Given the description of an element on the screen output the (x, y) to click on. 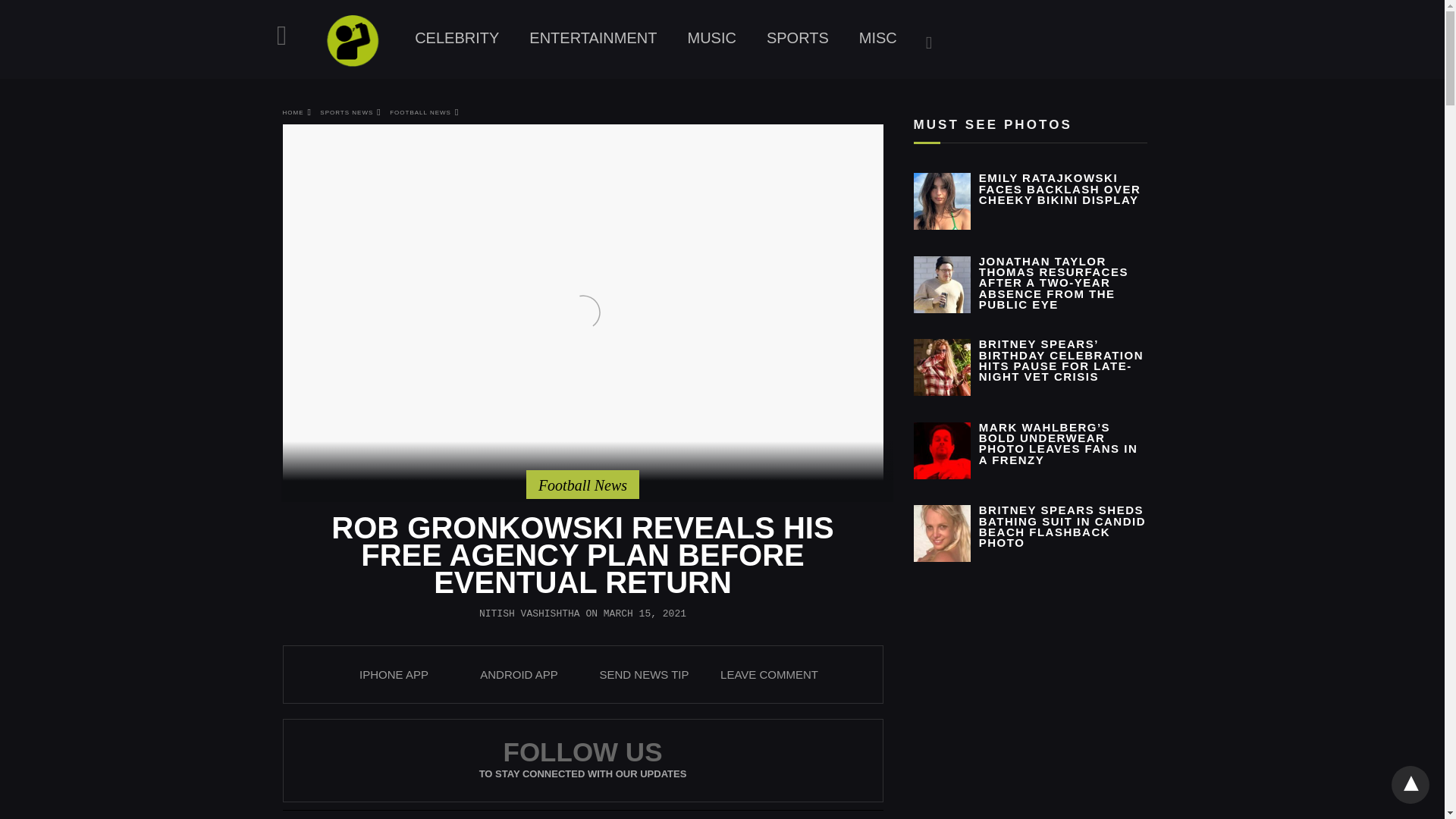
ENTERTAINMENT (592, 37)
Thirsty for News (351, 41)
SPORTS NEWS (350, 112)
MISC (878, 37)
ANDROID APP (518, 674)
SPORTS (797, 37)
LEAVE COMMENT (769, 674)
NITISH VASHISHTHA (529, 613)
Football News (582, 484)
CELEBRITY (455, 37)
